Given the description of an element on the screen output the (x, y) to click on. 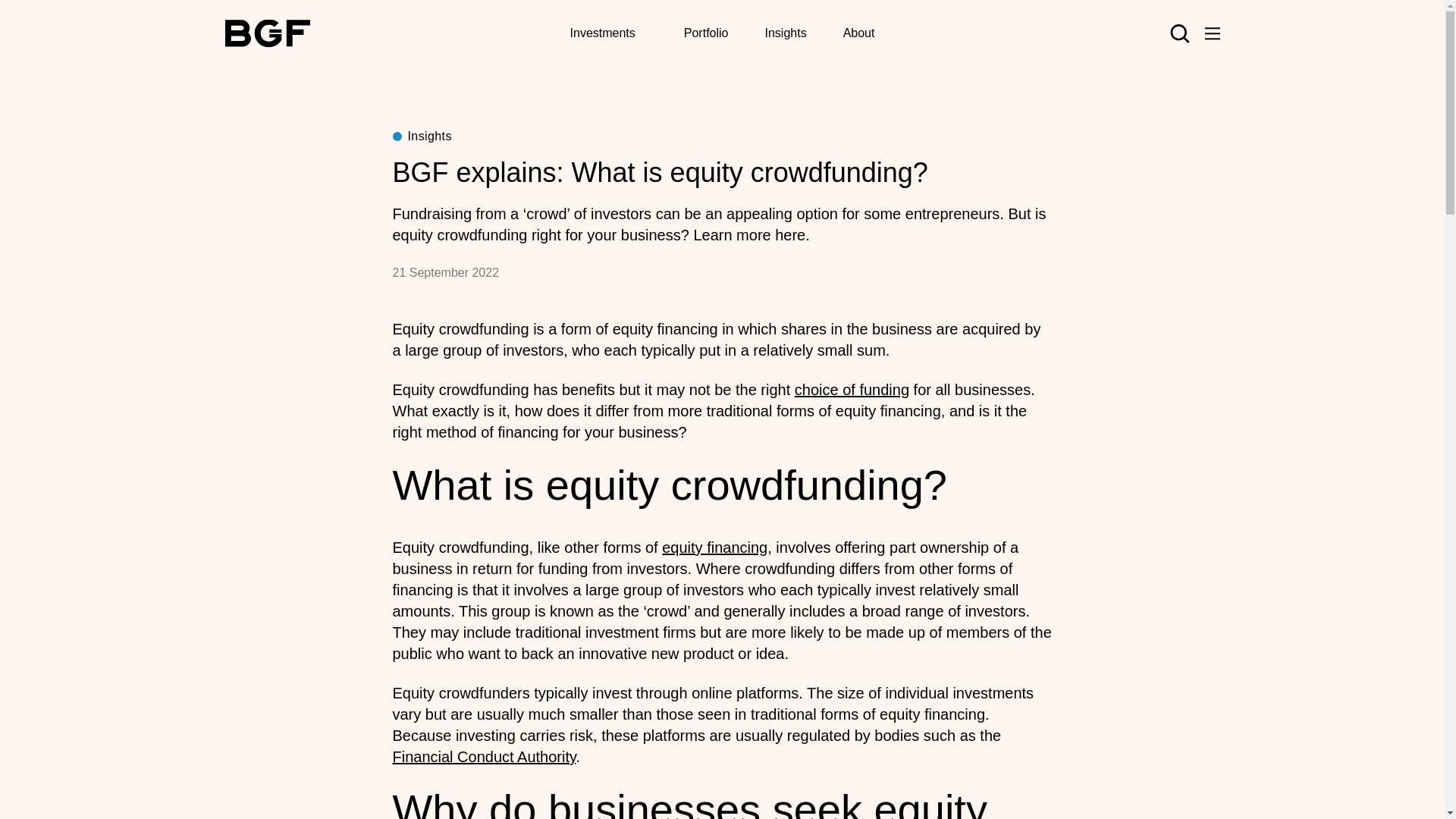
About (859, 32)
Portfolio (706, 32)
Investments (602, 33)
Insights (785, 32)
choice of funding (851, 389)
Financial Conduct Authority (484, 756)
equity financing (714, 547)
Search (962, 104)
